Given the description of an element on the screen output the (x, y) to click on. 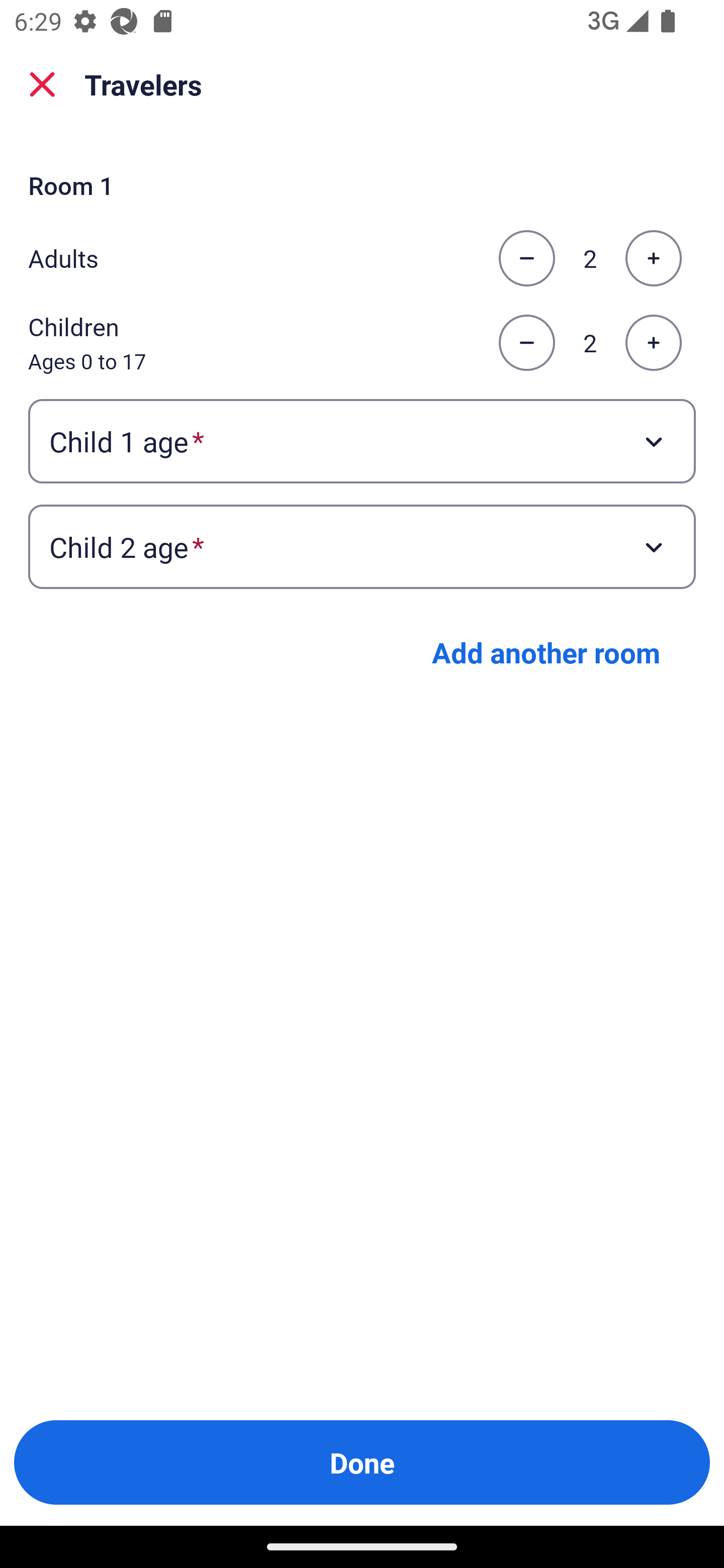
close (42, 84)
Decrease the number of adults (526, 258)
Increase the number of adults (653, 258)
Decrease the number of children (526, 343)
Increase the number of children (653, 343)
Child 1 age required Button (361, 440)
Child 2 age required Button (361, 546)
Add another room (545, 651)
Done (361, 1462)
